Given the description of an element on the screen output the (x, y) to click on. 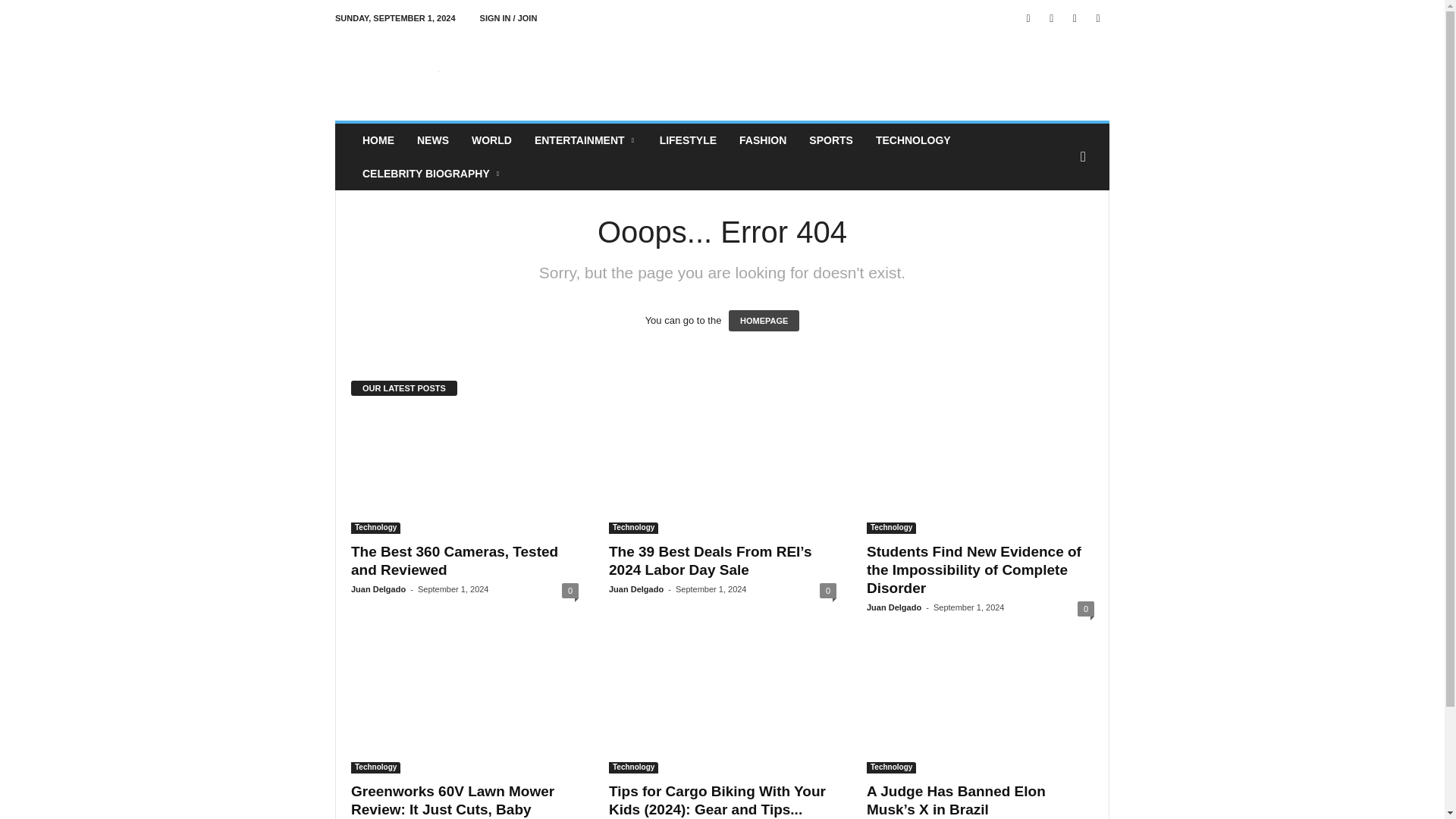
The Best 360 Cameras, Tested and Reviewed (453, 560)
SPORTS (830, 140)
The Best 360 Cameras, Tested and Reviewed (464, 472)
ENTERTAINMENT (584, 140)
HOME (378, 140)
NEWS (433, 140)
Tribun Kepo (437, 70)
LIFESTYLE (687, 140)
